Given the description of an element on the screen output the (x, y) to click on. 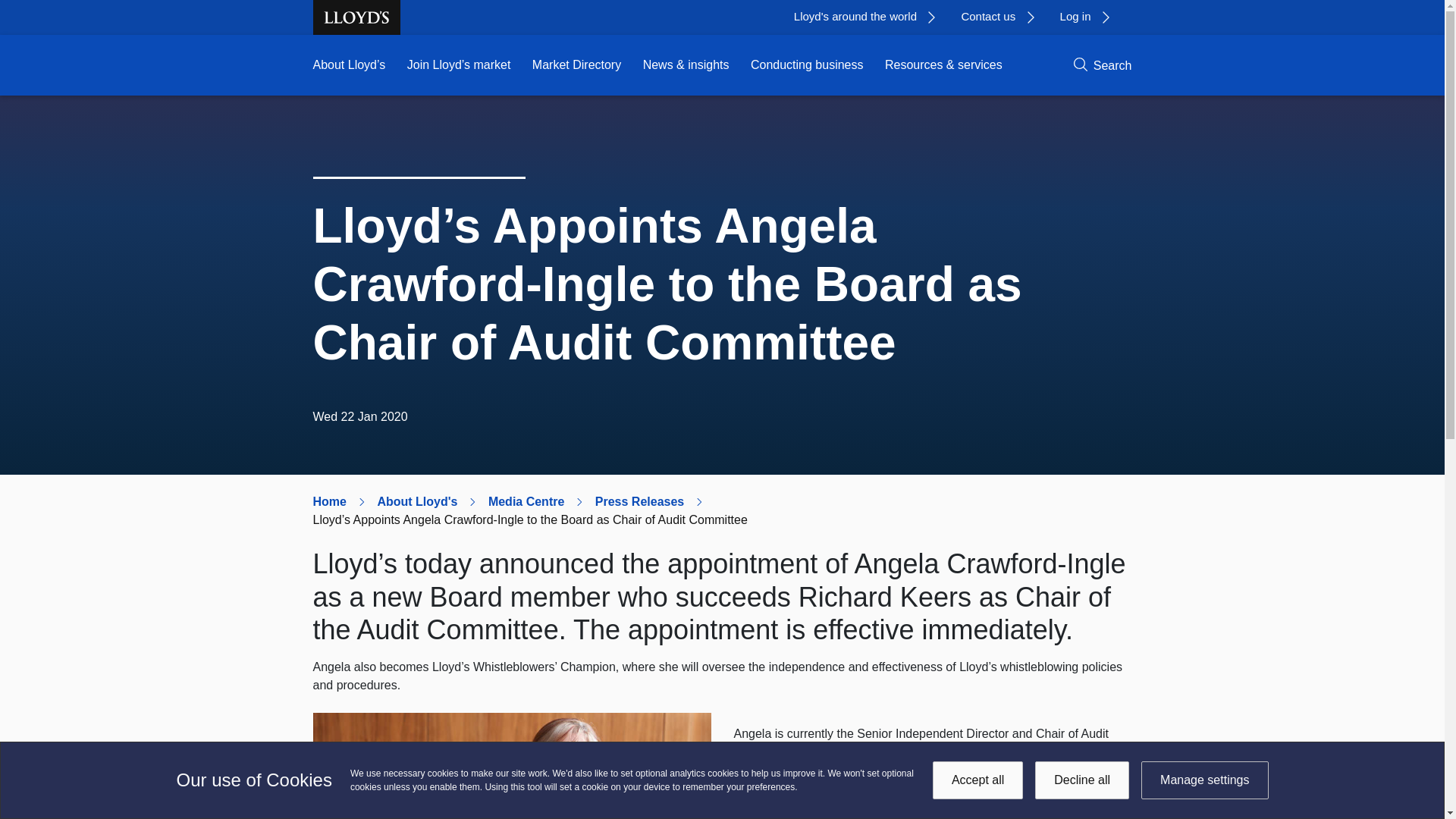
Contact us (1002, 17)
Market Directory (576, 65)
Log in (1090, 17)
Lloyd's around the world (869, 17)
